Given the description of an element on the screen output the (x, y) to click on. 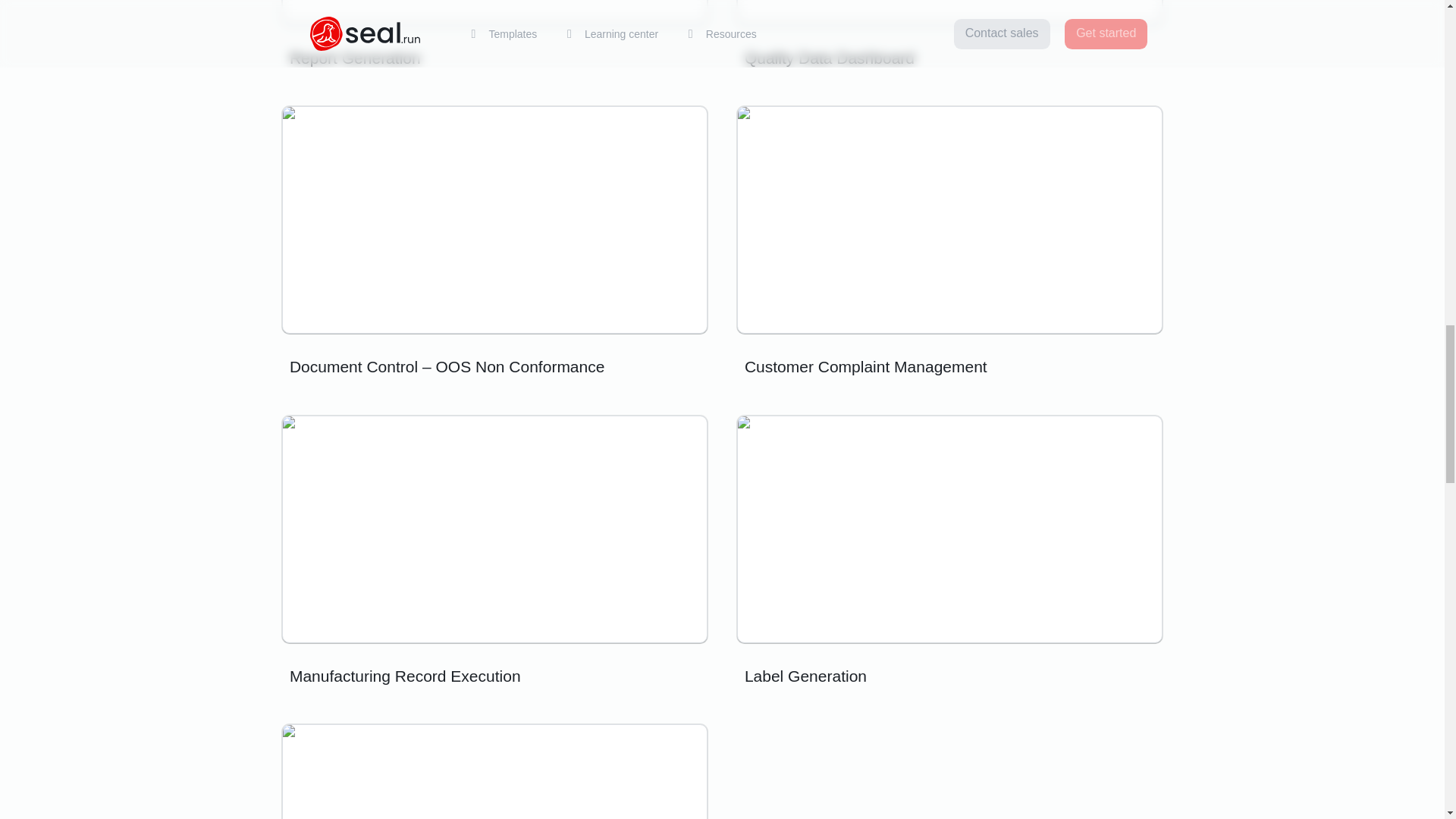
Manufacturing Record Execution (494, 555)
Instrument integration (494, 771)
Quality Data Dashboard (948, 38)
Customer Complaint Management (948, 245)
Label Generation (948, 555)
Report Generation (494, 38)
